Given the description of an element on the screen output the (x, y) to click on. 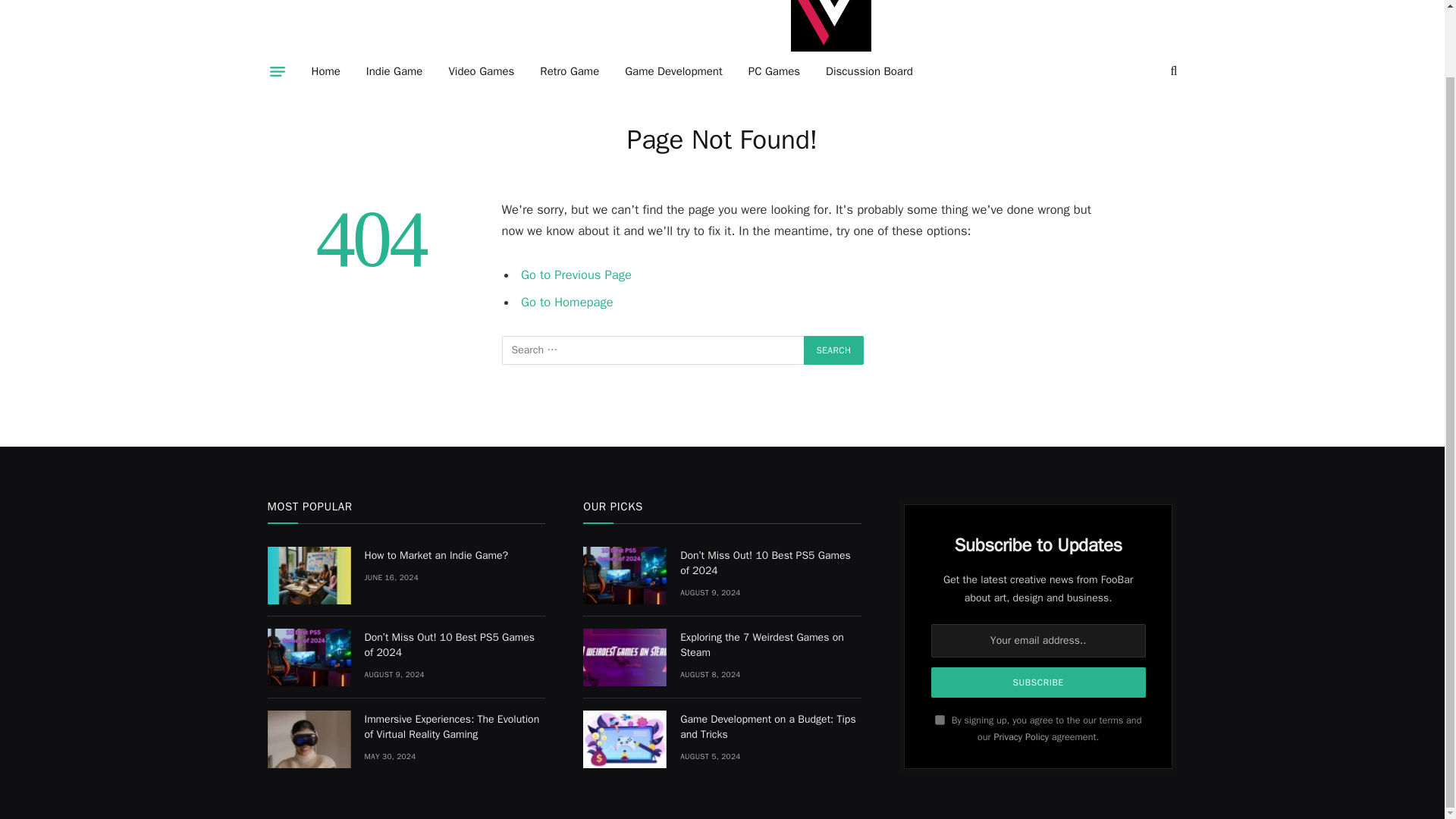
Retro Game (569, 70)
Search (833, 349)
PC Games (773, 70)
Subscribe (1038, 682)
Search (833, 349)
How to Market an Indie Game? (308, 575)
Exploring the 7 Weirdest Games on Steam (624, 657)
Game Development (673, 70)
on (939, 719)
